Given the description of an element on the screen output the (x, y) to click on. 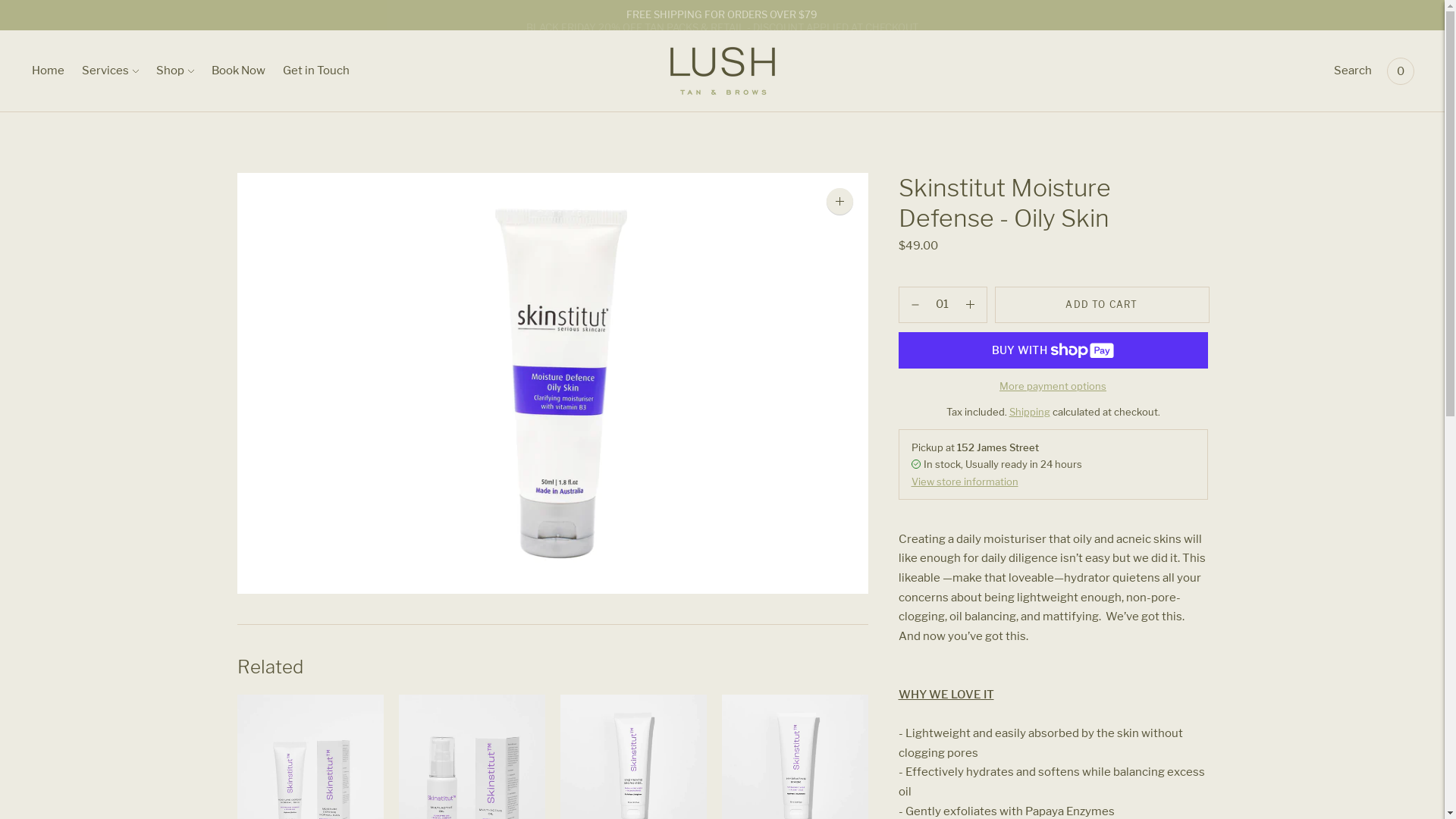
ADD TO CART Element type: text (1101, 304)
Book Now Element type: text (238, 70)
0 Element type: text (1400, 70)
Search Element type: text (1352, 70)
Services Element type: text (109, 70)
Get in Touch Element type: text (315, 70)
More payment options Element type: text (1052, 385)
Shipping Element type: text (1028, 411)
View store information Element type: text (964, 481)
Home Element type: text (47, 70)
Shop Element type: text (175, 70)
